Given the description of an element on the screen output the (x, y) to click on. 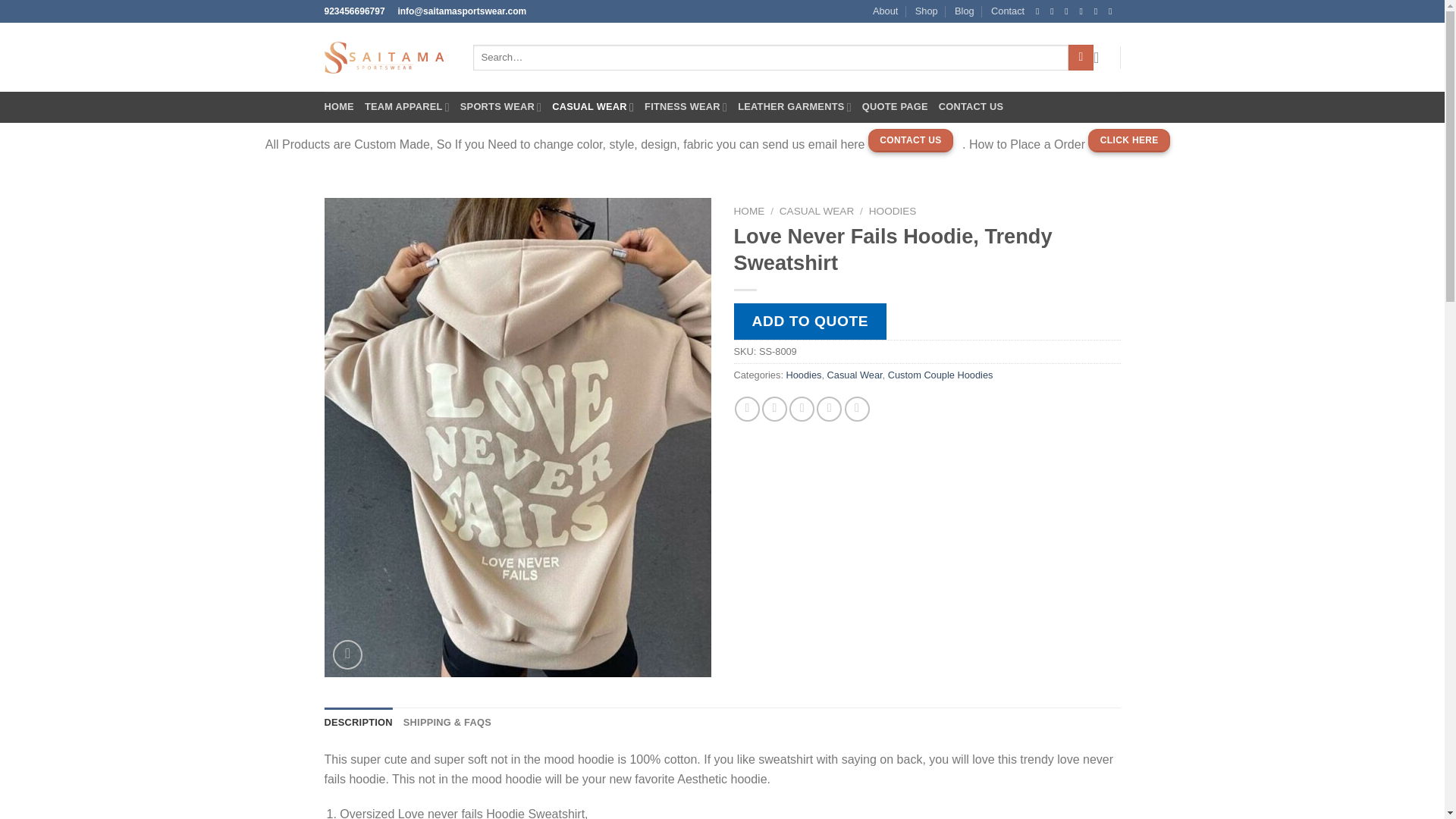
Saitama Sportswear - Buy Tshit, Hoodies, Sportswear (386, 57)
SPORTS WEAR (500, 106)
Shop (926, 11)
Contact (1008, 11)
TEAM APPAREL (407, 106)
Search (1080, 57)
About (885, 11)
HOME (338, 106)
